Given the description of an element on the screen output the (x, y) to click on. 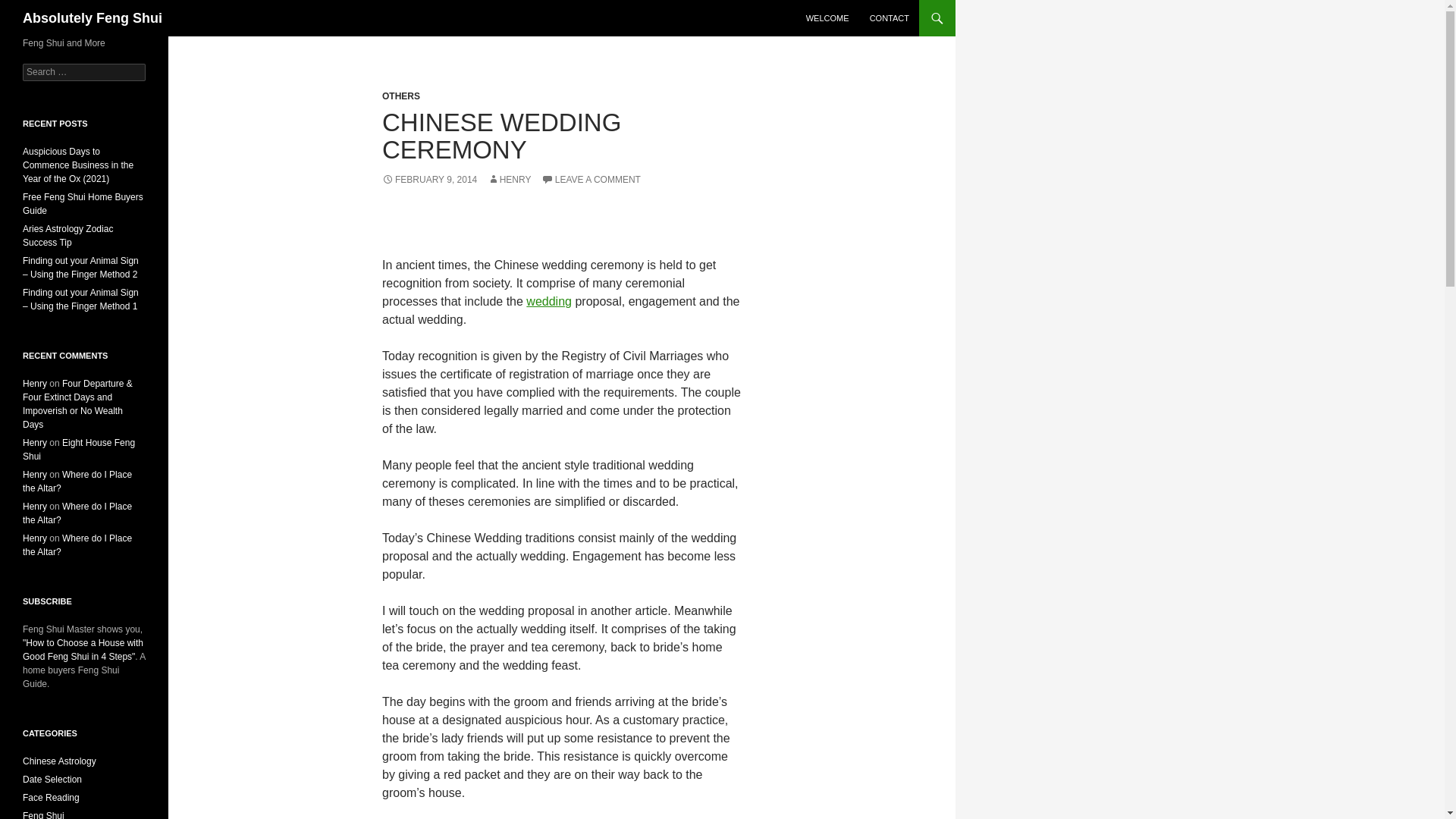
Henry (34, 538)
LEAVE A COMMENT (590, 179)
OTHERS (400, 95)
Where do I Place the Altar? (77, 545)
Date Selection (52, 778)
Aries Astrology Zodiac Success Tip (68, 235)
Henry (34, 506)
CONTACT (889, 18)
HENRY (509, 179)
Henry (34, 474)
Chinese Astrology (59, 760)
Henry (34, 442)
Free Feng Shui Home Buyers Guide (82, 203)
WELCOME (827, 18)
wedding (548, 300)
